Given the description of an element on the screen output the (x, y) to click on. 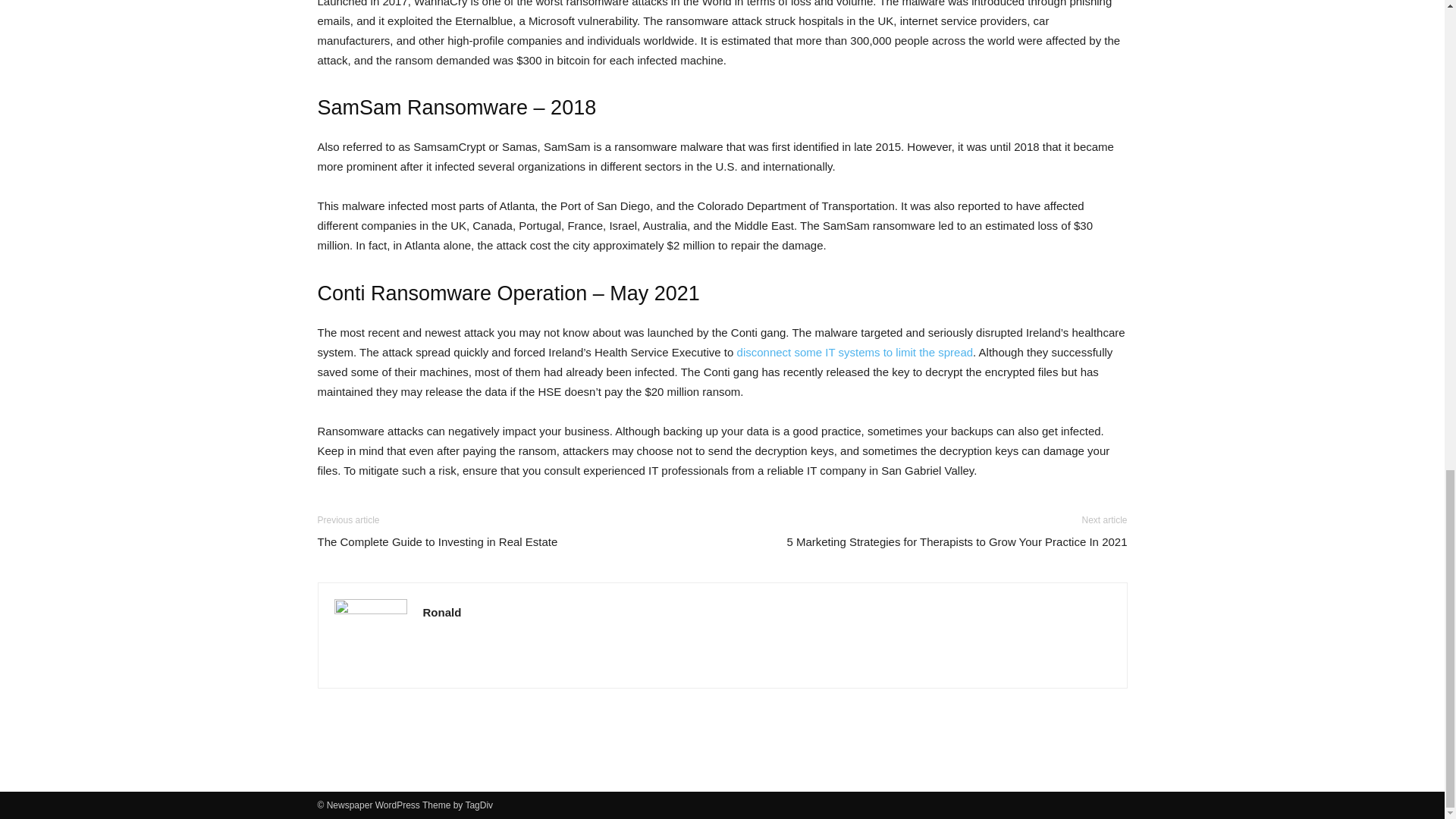
Ronald (442, 612)
disconnect some IT systems to limit the spread (855, 351)
The Complete Guide to Investing in Real Estate (437, 541)
